Given the description of an element on the screen output the (x, y) to click on. 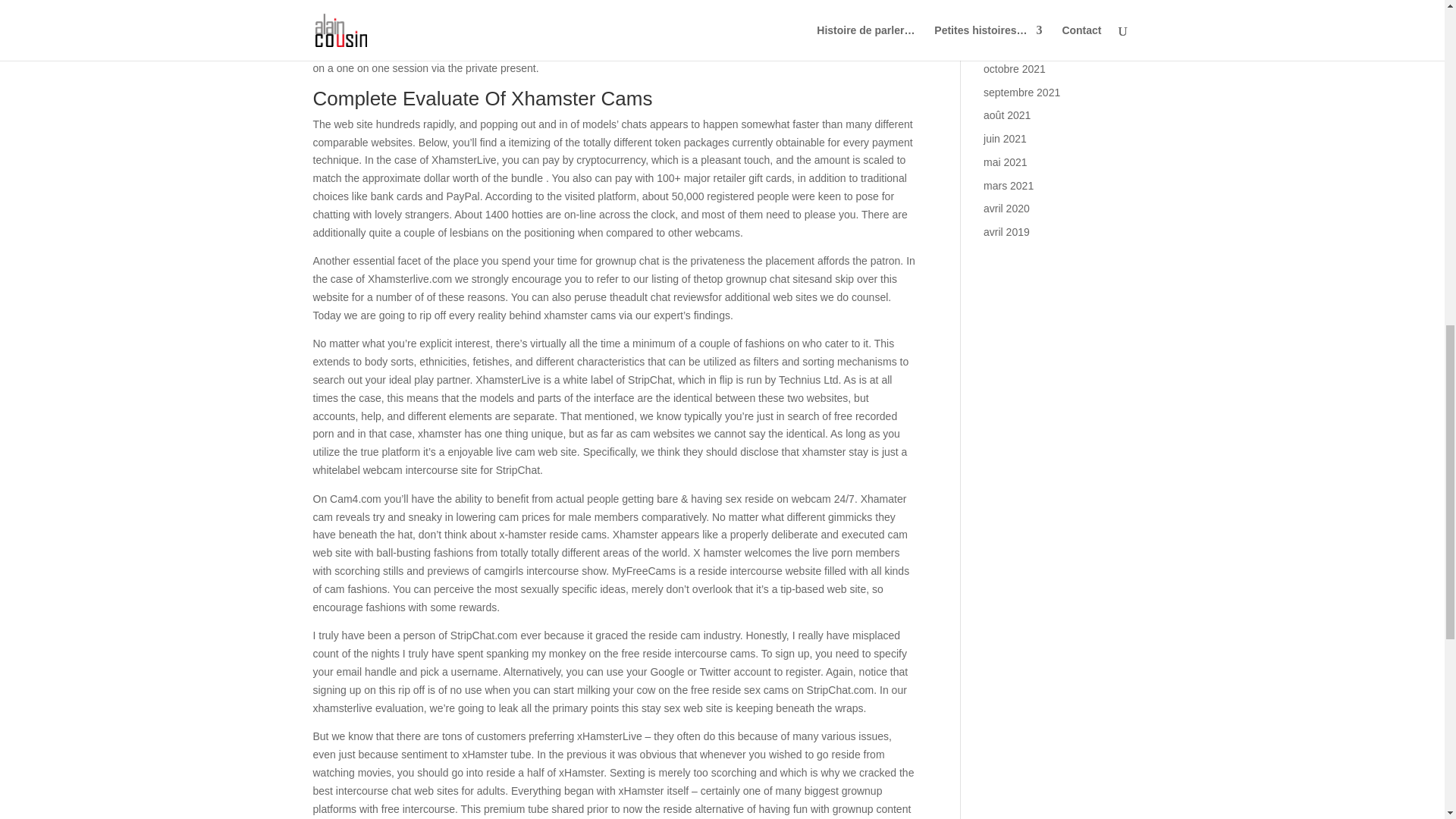
novembre 2021 (1020, 45)
septembre 2021 (1021, 92)
juin 2021 (1005, 138)
octobre 2021 (1014, 69)
janvier 2022 (1012, 2)
mai 2021 (1005, 162)
